Given the description of an element on the screen output the (x, y) to click on. 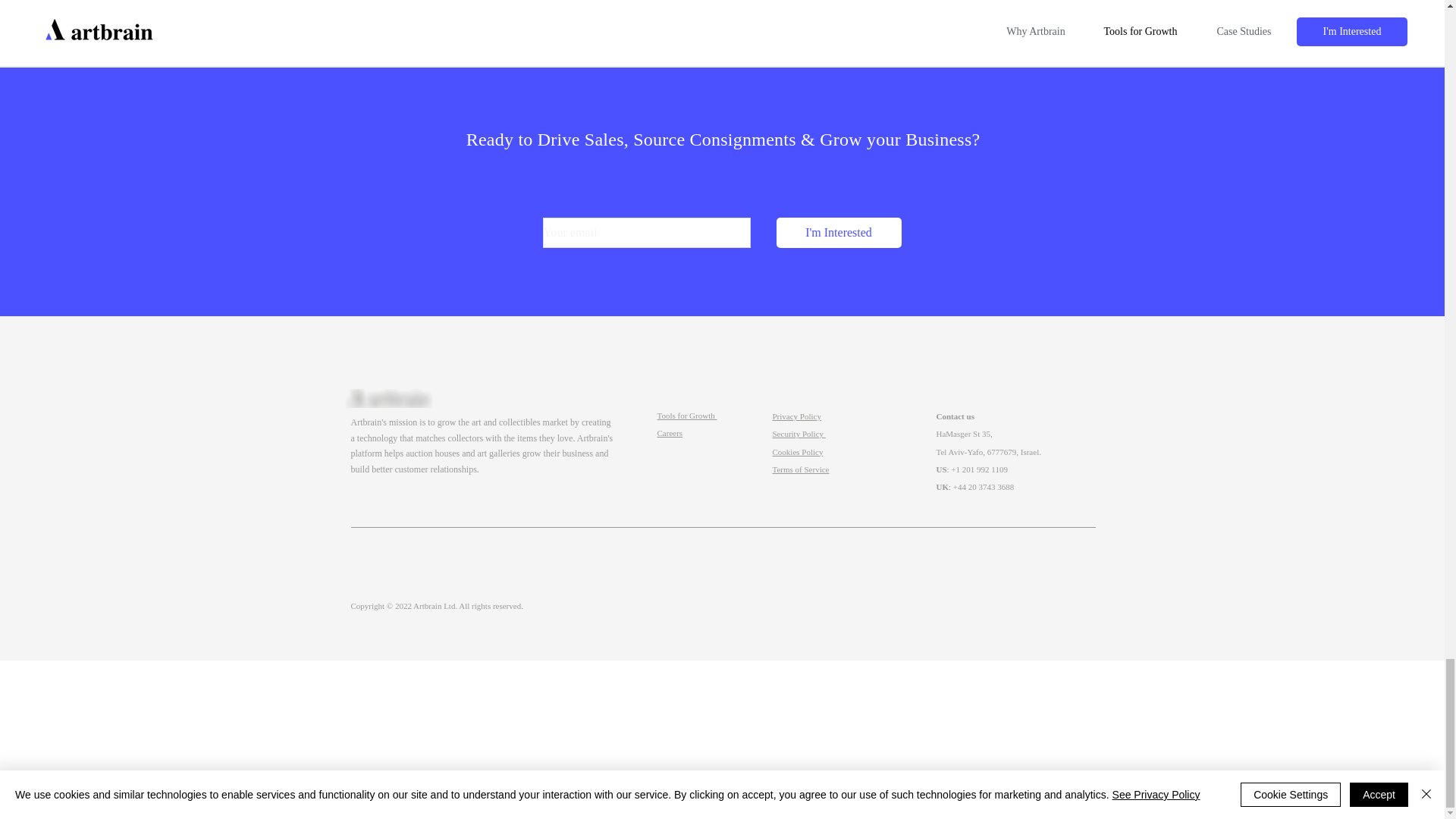
HaMasger St 35, (963, 433)
Security Policy  (798, 433)
Tools for Growth  (686, 415)
Terms of Service (799, 469)
I'm Interested (838, 232)
Group 27 Copy.png (388, 398)
Privacy Policy (796, 415)
Careers (669, 432)
Cookies Policy (796, 451)
